Given the description of an element on the screen output the (x, y) to click on. 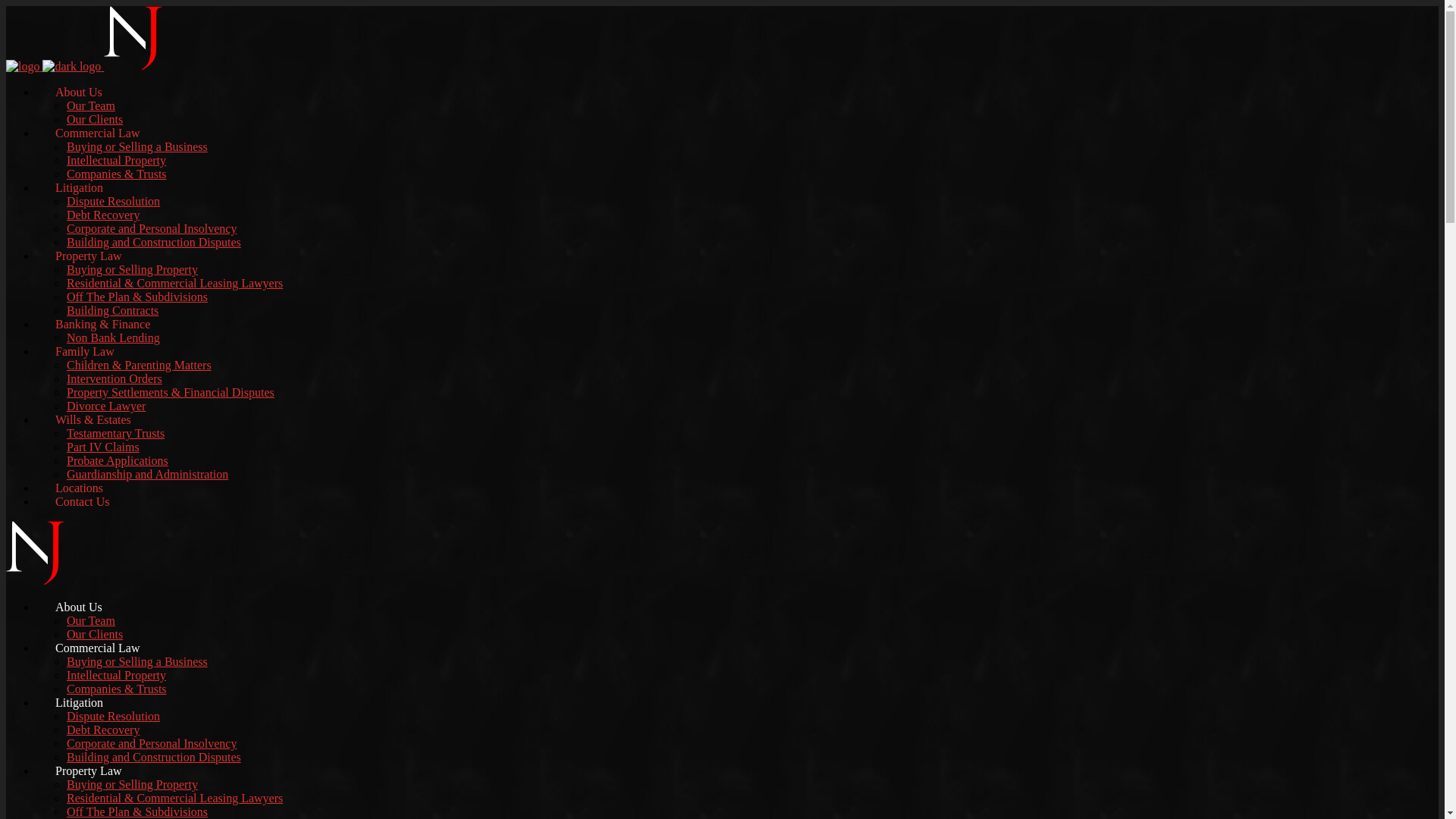
Banking & Finance Element type: text (102, 323)
Our Team Element type: text (90, 105)
Guardianship and Administration Element type: text (147, 473)
Buying or Selling a Business Element type: text (136, 146)
Off The Plan & Subdivisions Element type: text (136, 296)
Intellectual Property Element type: text (116, 159)
Part IV Claims Element type: text (102, 446)
Corporate and Personal Insolvency Element type: text (151, 228)
Commercial Law Element type: text (97, 132)
Building and Construction Disputes Element type: text (153, 241)
Debt Recovery Element type: text (102, 729)
Intervention Orders Element type: text (114, 378)
Buying or Selling a Business Element type: text (136, 661)
Testamentary Trusts Element type: text (115, 432)
Building and Construction Disputes Element type: text (153, 756)
Family Law Element type: text (84, 351)
Our Clients Element type: text (94, 633)
Property Law Element type: text (88, 770)
Residential & Commercial Leasing Lawyers Element type: text (174, 282)
Buying or Selling Property Element type: text (131, 784)
Building Contracts Element type: text (112, 310)
Children & Parenting Matters Element type: text (138, 364)
Debt Recovery Element type: text (102, 214)
Probate Applications Element type: text (117, 460)
Dispute Resolution Element type: text (113, 200)
Locations Element type: text (79, 487)
Our Team Element type: text (90, 620)
Commercial Law Element type: text (97, 647)
Non Bank Lending Element type: text (113, 337)
Off The Plan & Subdivisions Element type: text (136, 811)
Companies & Trusts Element type: text (116, 173)
About Us Element type: text (78, 91)
Corporate and Personal Insolvency Element type: text (151, 743)
Dispute Resolution Element type: text (113, 715)
Property Settlements & Financial Disputes Element type: text (170, 391)
Litigation Element type: text (79, 187)
Intellectual Property Element type: text (116, 674)
Buying or Selling Property Element type: text (131, 269)
Wills & Estates Element type: text (93, 419)
Our Clients Element type: text (94, 118)
Property Law Element type: text (88, 255)
Contact Us Element type: text (82, 501)
Divorce Lawyer Element type: text (105, 405)
Companies & Trusts Element type: text (116, 688)
Residential & Commercial Leasing Lawyers Element type: text (174, 797)
Litigation Element type: text (79, 702)
About Us Element type: text (78, 606)
